Given the description of an element on the screen output the (x, y) to click on. 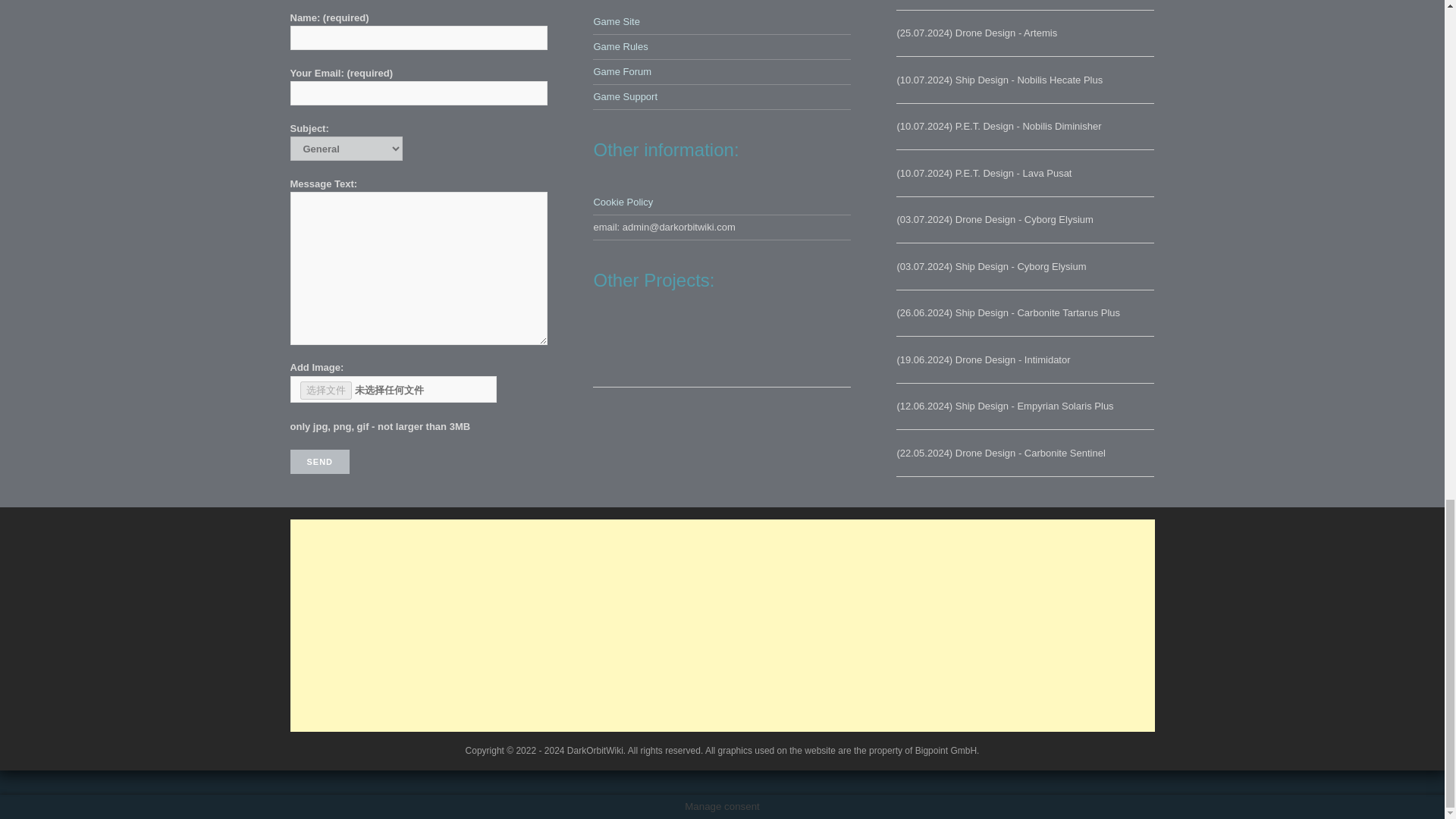
Send (319, 461)
